Given the description of an element on the screen output the (x, y) to click on. 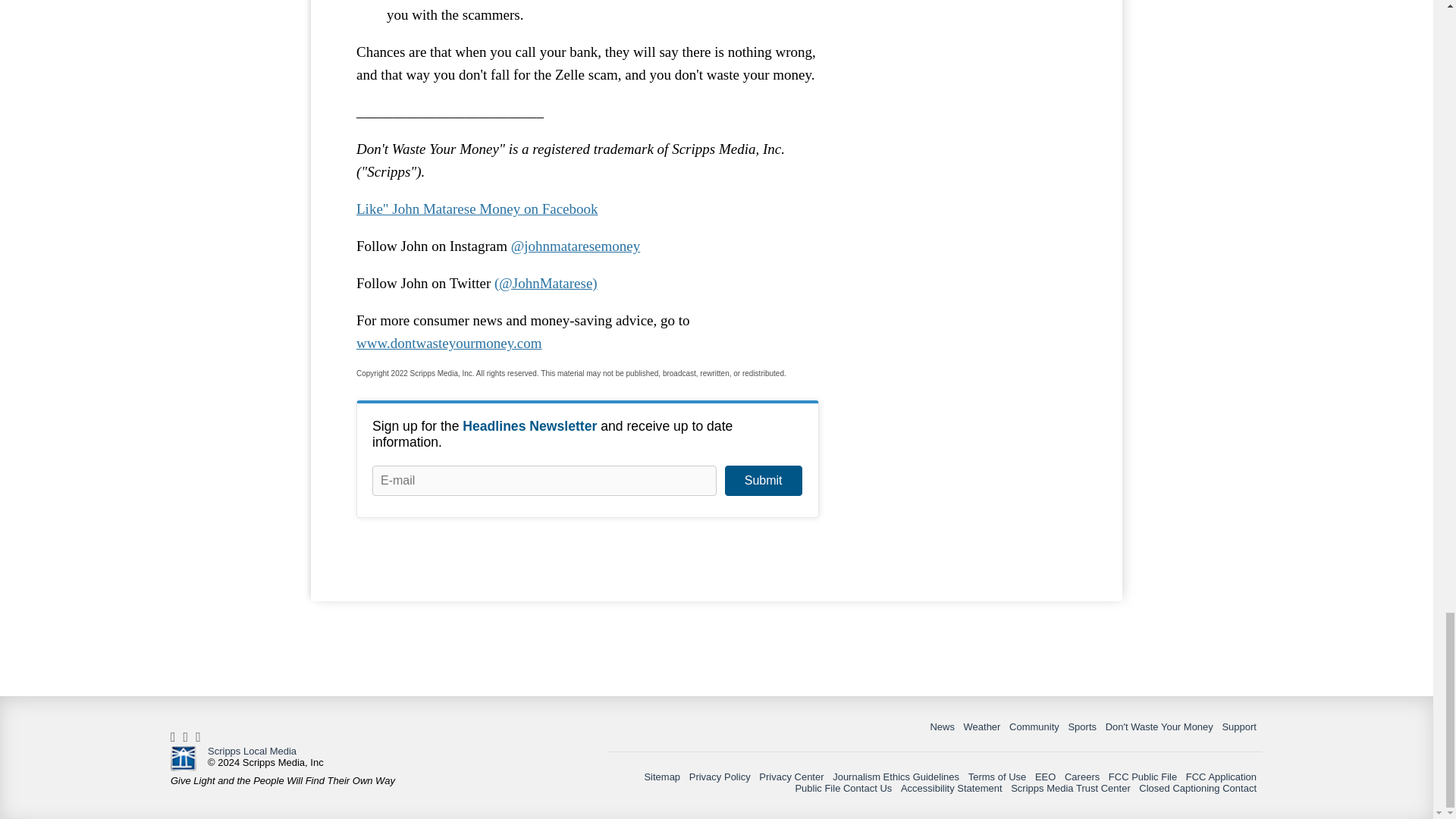
Submit (763, 481)
